Given the description of an element on the screen output the (x, y) to click on. 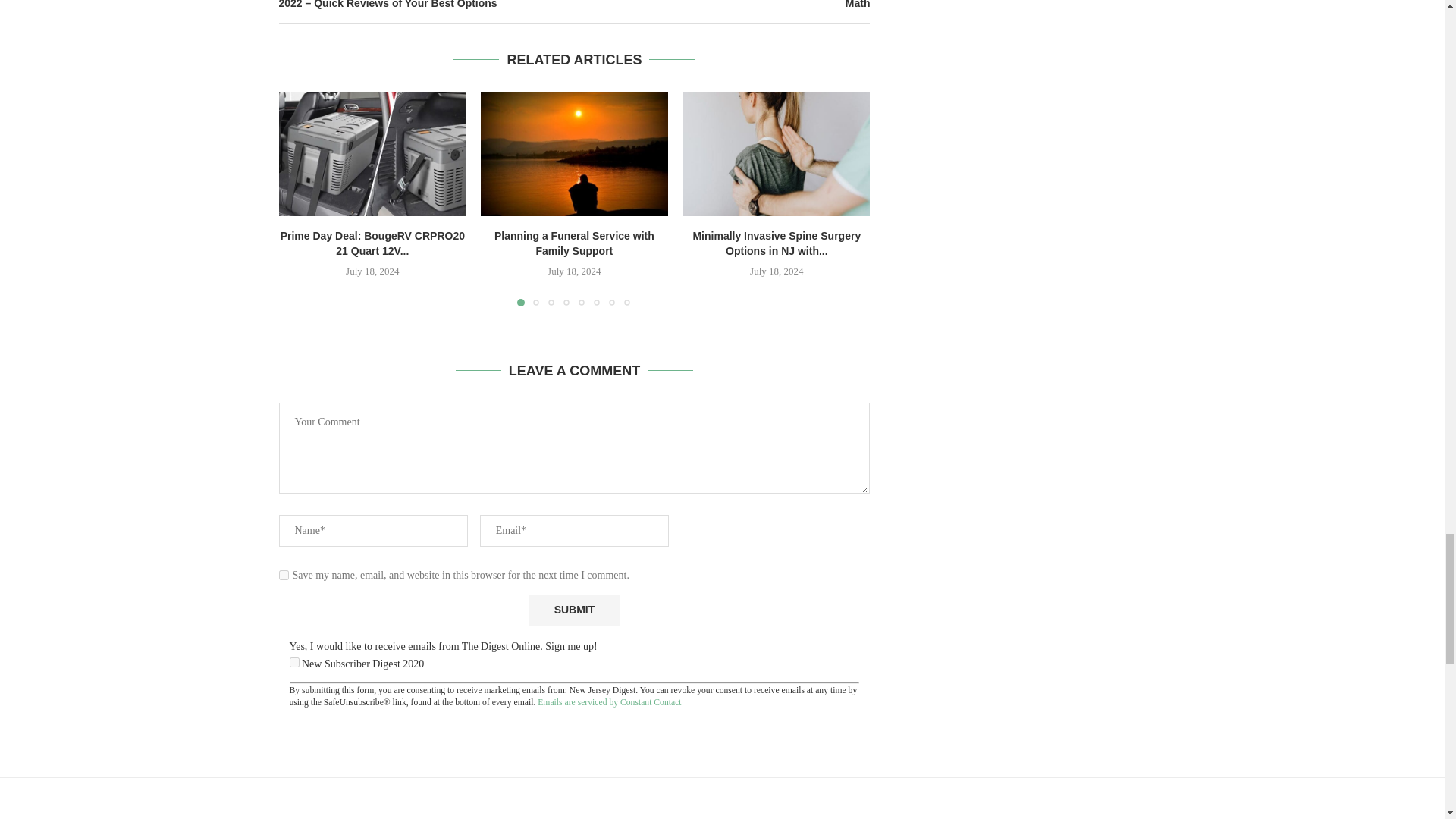
Submit (574, 609)
e1d05f30-e71c-11ea-8ff7-d4ae529a8250 (294, 662)
Planning a Funeral Service with Family Support (574, 153)
yes (283, 574)
